Given the description of an element on the screen output the (x, y) to click on. 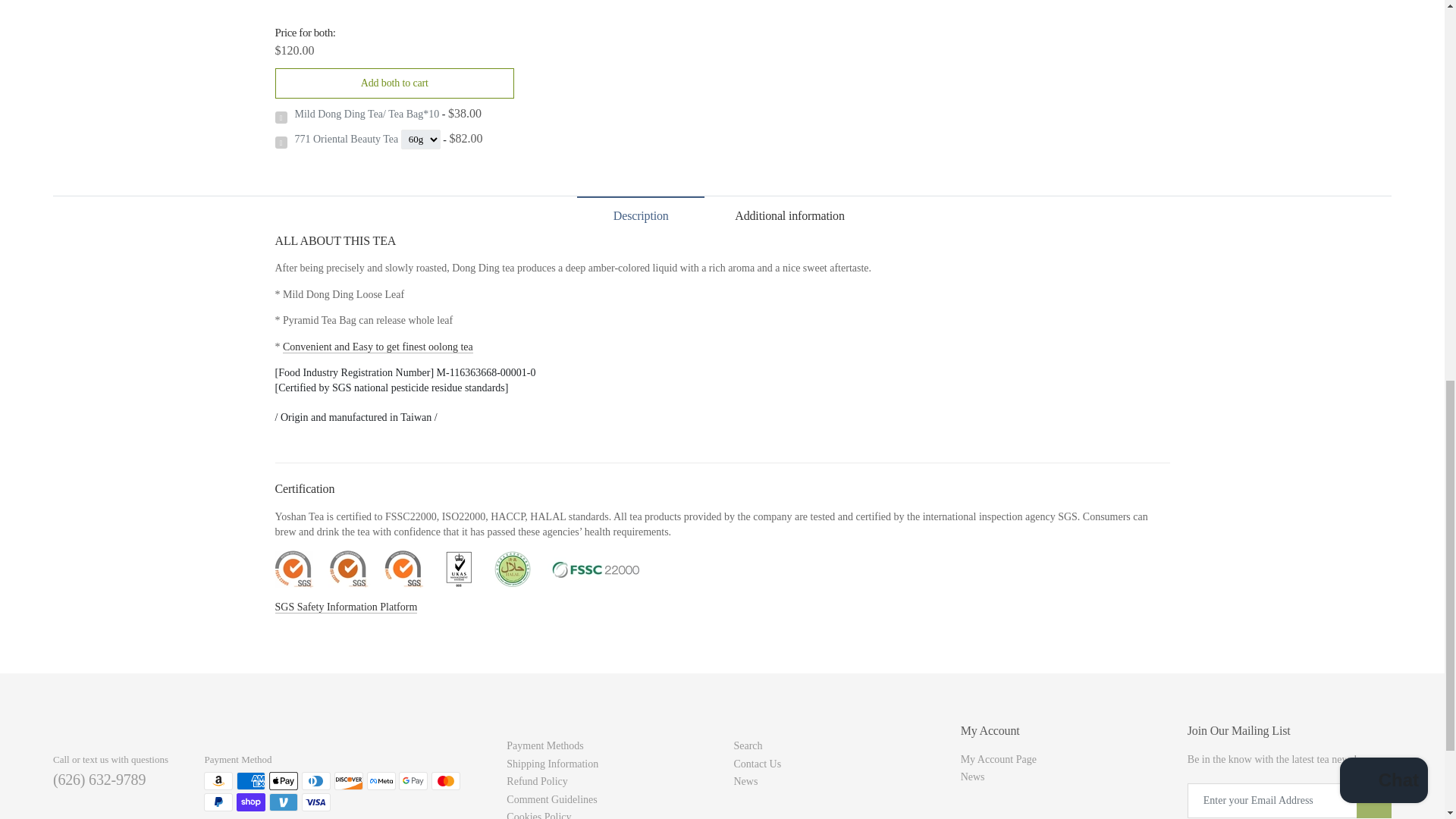
Mastercard (445, 781)
Meta Pay (381, 781)
Shop Pay (249, 802)
Visa (315, 802)
Amazon (217, 781)
Google Pay (413, 781)
American Express (249, 781)
Venmo (283, 802)
Apple Pay (283, 781)
Diners Club (315, 781)
